Given the description of an element on the screen output the (x, y) to click on. 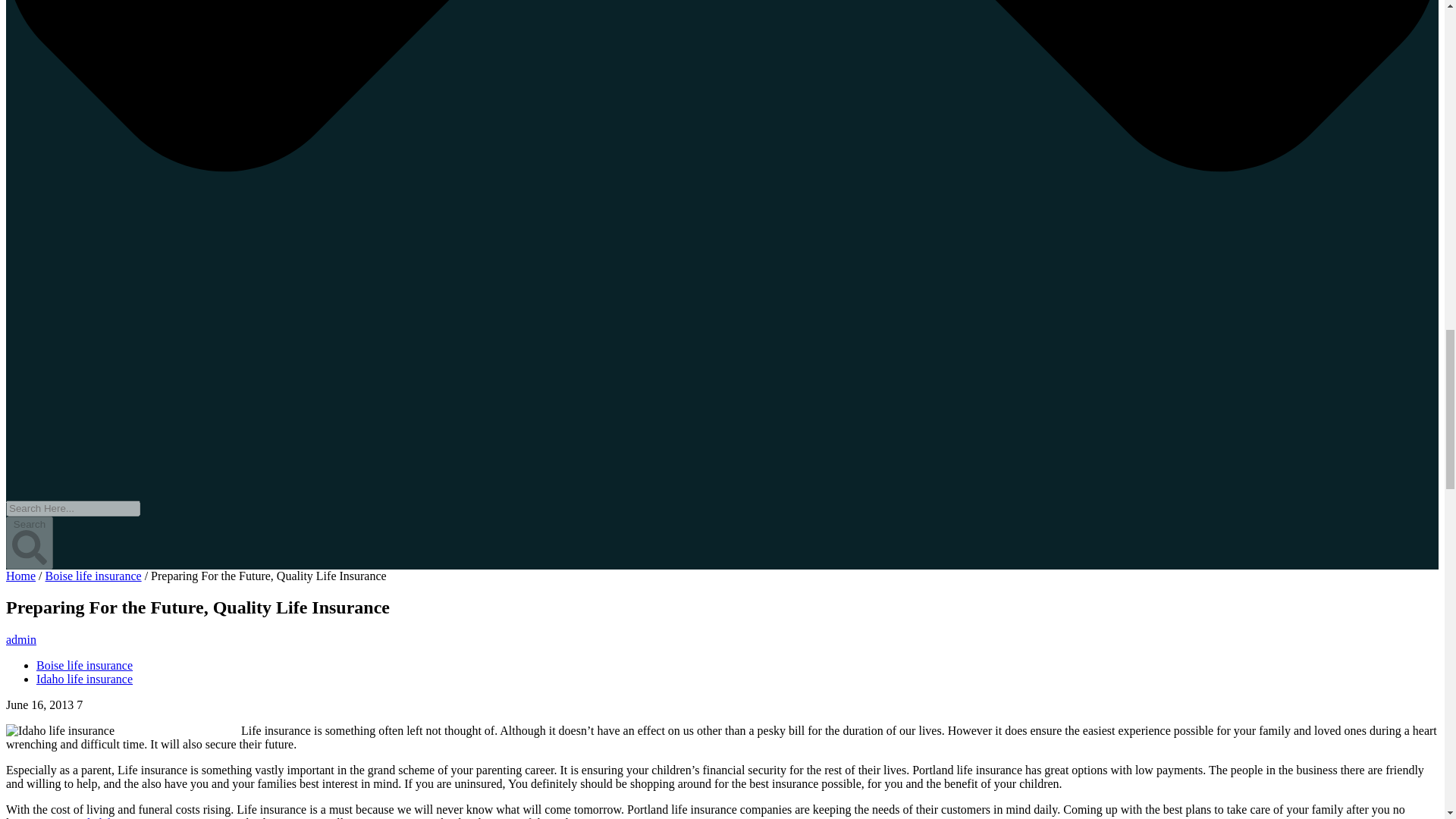
Seattle life insurance (113, 817)
Home (19, 575)
Oregon life insurance, Utah life insurance (113, 817)
Boise life insurance (93, 575)
Idaho life insurance (84, 678)
admin (20, 639)
Boise life insurance (84, 665)
